Given the description of an element on the screen output the (x, y) to click on. 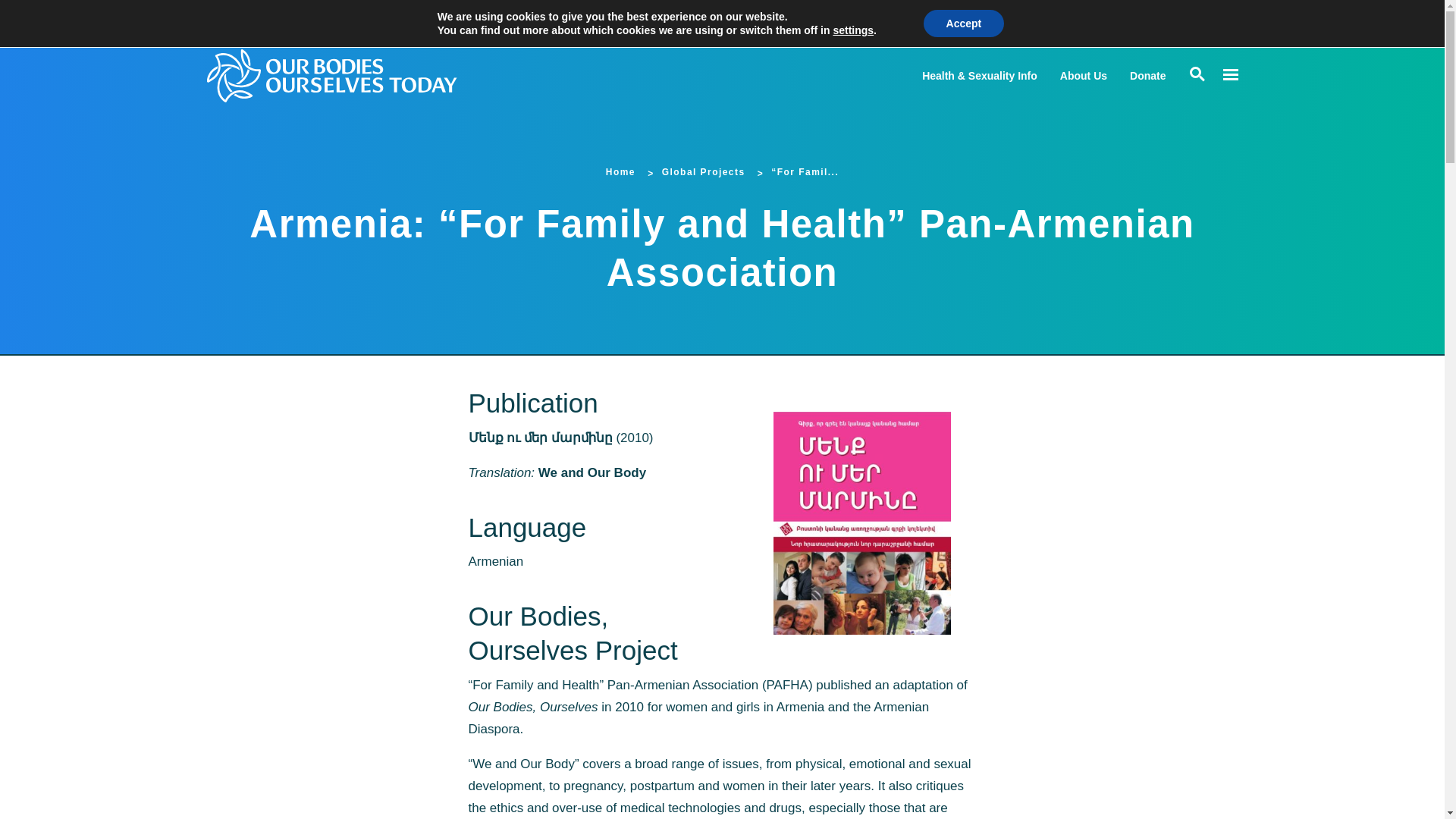
Donate (1147, 75)
Home (619, 172)
Expand navigation (1229, 75)
Global Projects (703, 172)
Search (15, 15)
About Us (1083, 75)
Our Bodies Ourselves Today (361, 75)
